Given the description of an element on the screen output the (x, y) to click on. 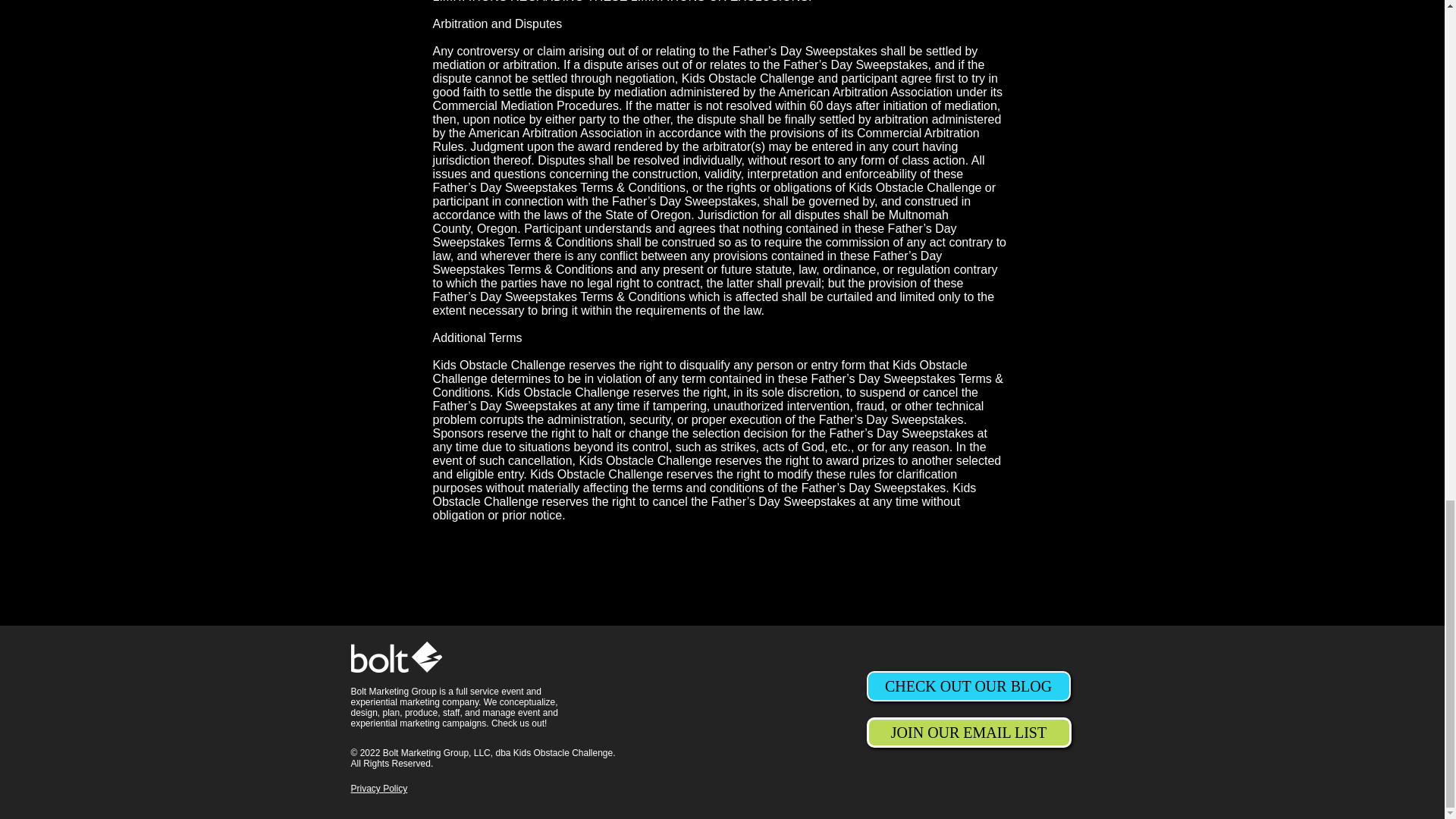
JOIN OUR EMAIL LIST (968, 732)
CHECK OUT OUR BLOG (968, 685)
Privacy Policy (378, 787)
